Given the description of an element on the screen output the (x, y) to click on. 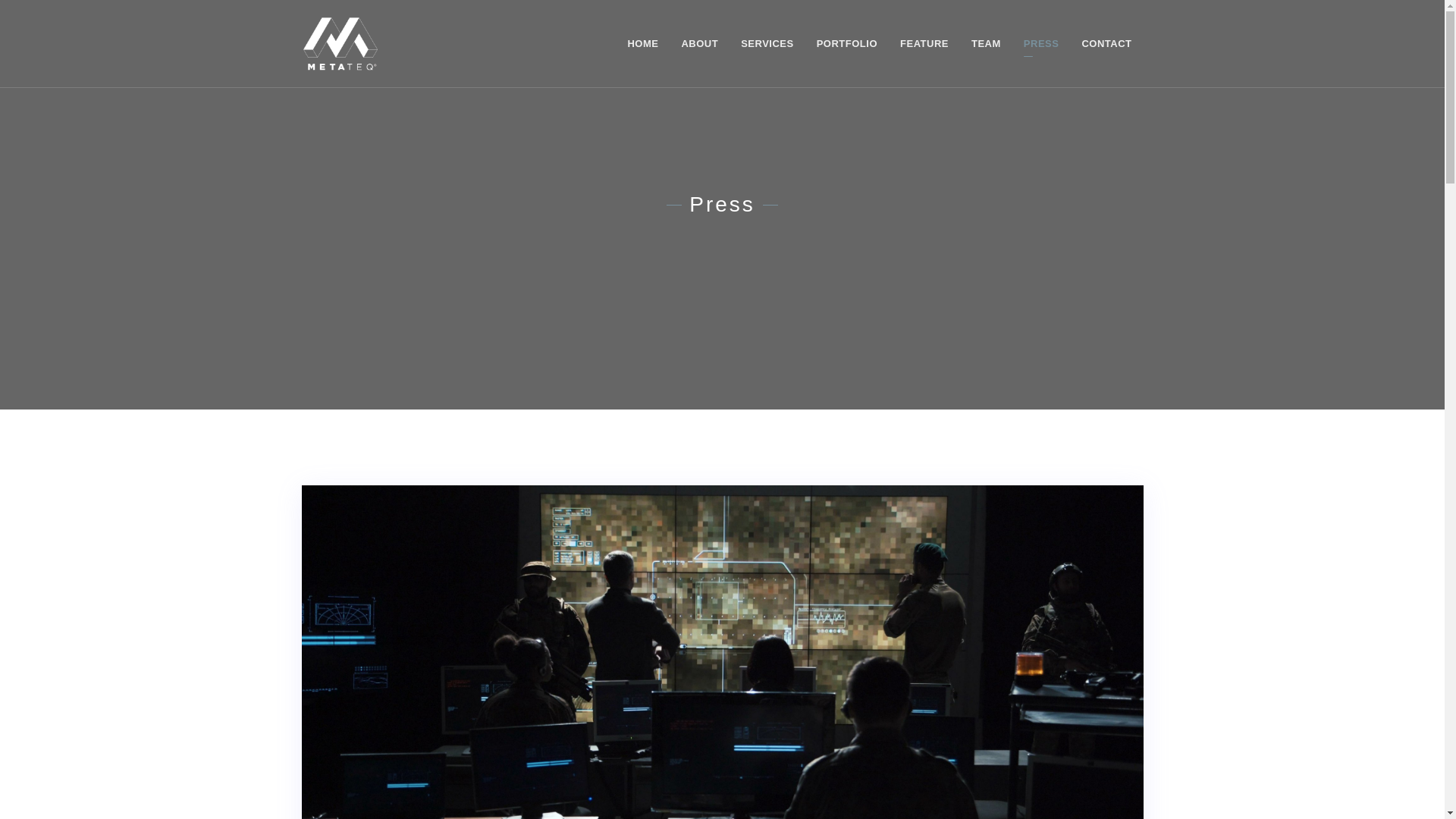
ABOUT (699, 43)
CONTACT (1106, 43)
FEATURE (923, 43)
PRESS (1040, 43)
SERVICES (767, 43)
PORTFOLIO (846, 43)
TEAM (985, 43)
HOME (642, 43)
